Given the description of an element on the screen output the (x, y) to click on. 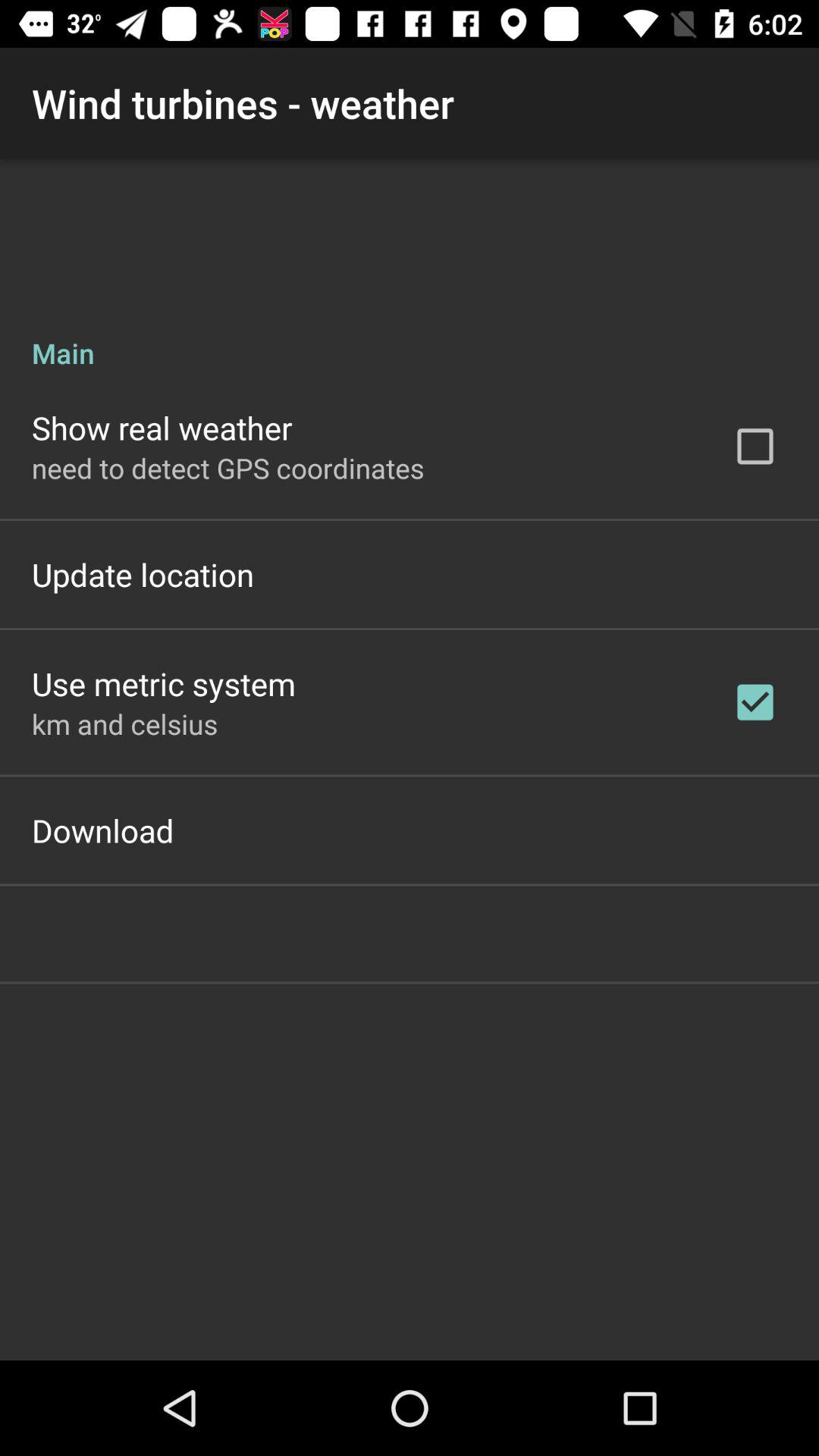
turn on icon above the show real weather (409, 336)
